Given the description of an element on the screen output the (x, y) to click on. 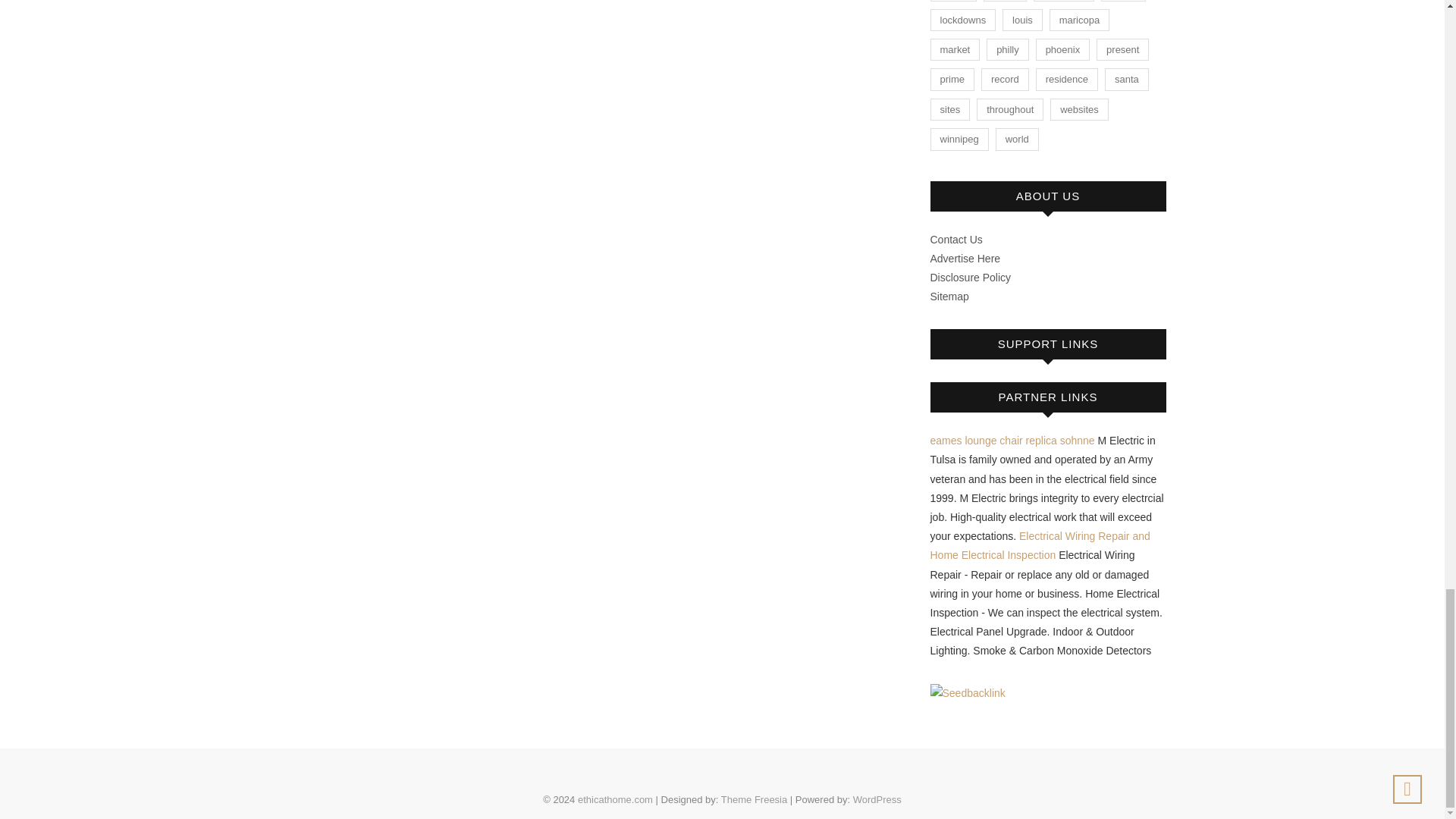
Seedbacklink (967, 692)
WordPress (877, 799)
ethicathome.com (615, 799)
Theme Freesia (753, 799)
